Given the description of an element on the screen output the (x, y) to click on. 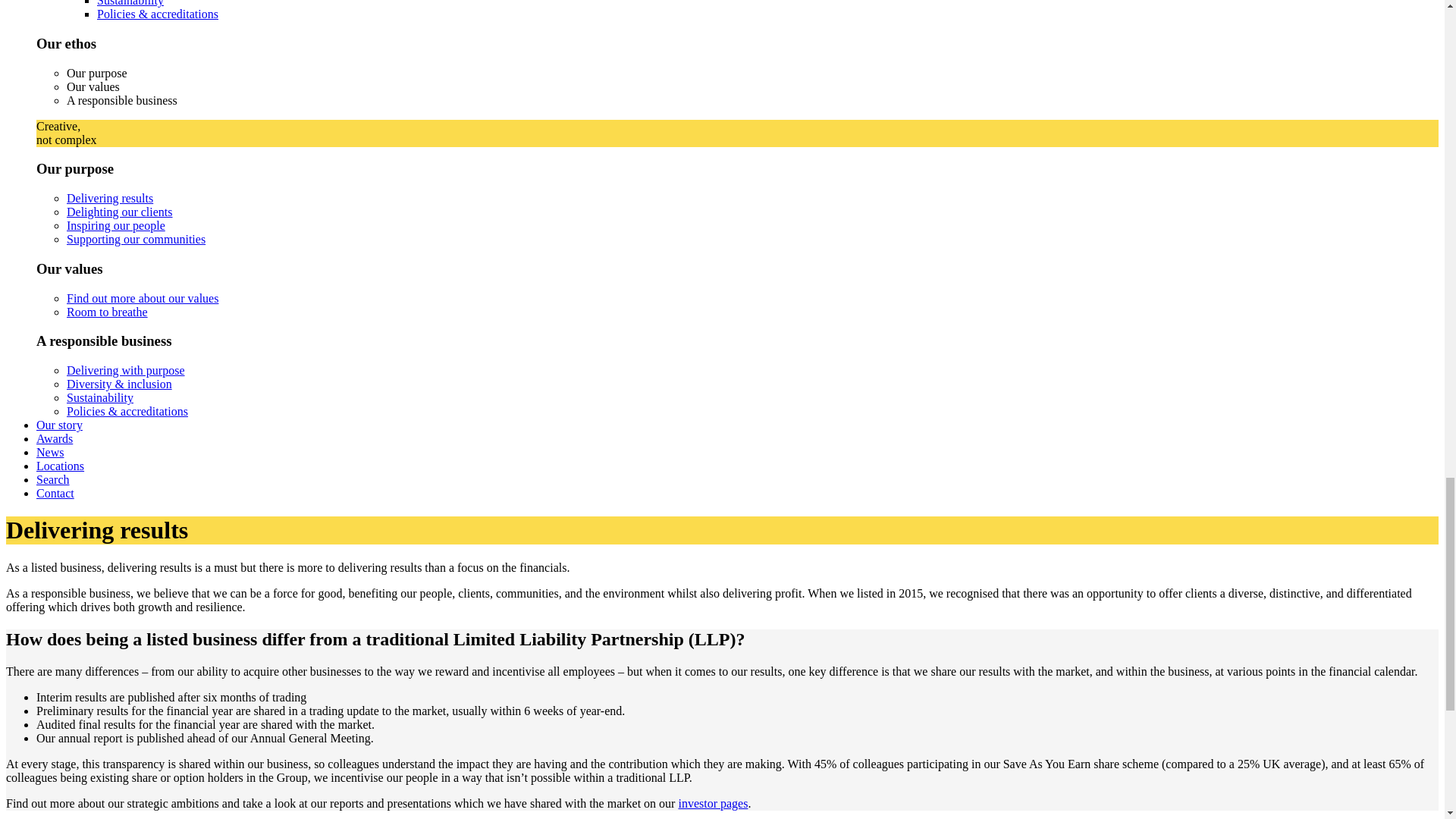
Sustainability (130, 3)
